Given the description of an element on the screen output the (x, y) to click on. 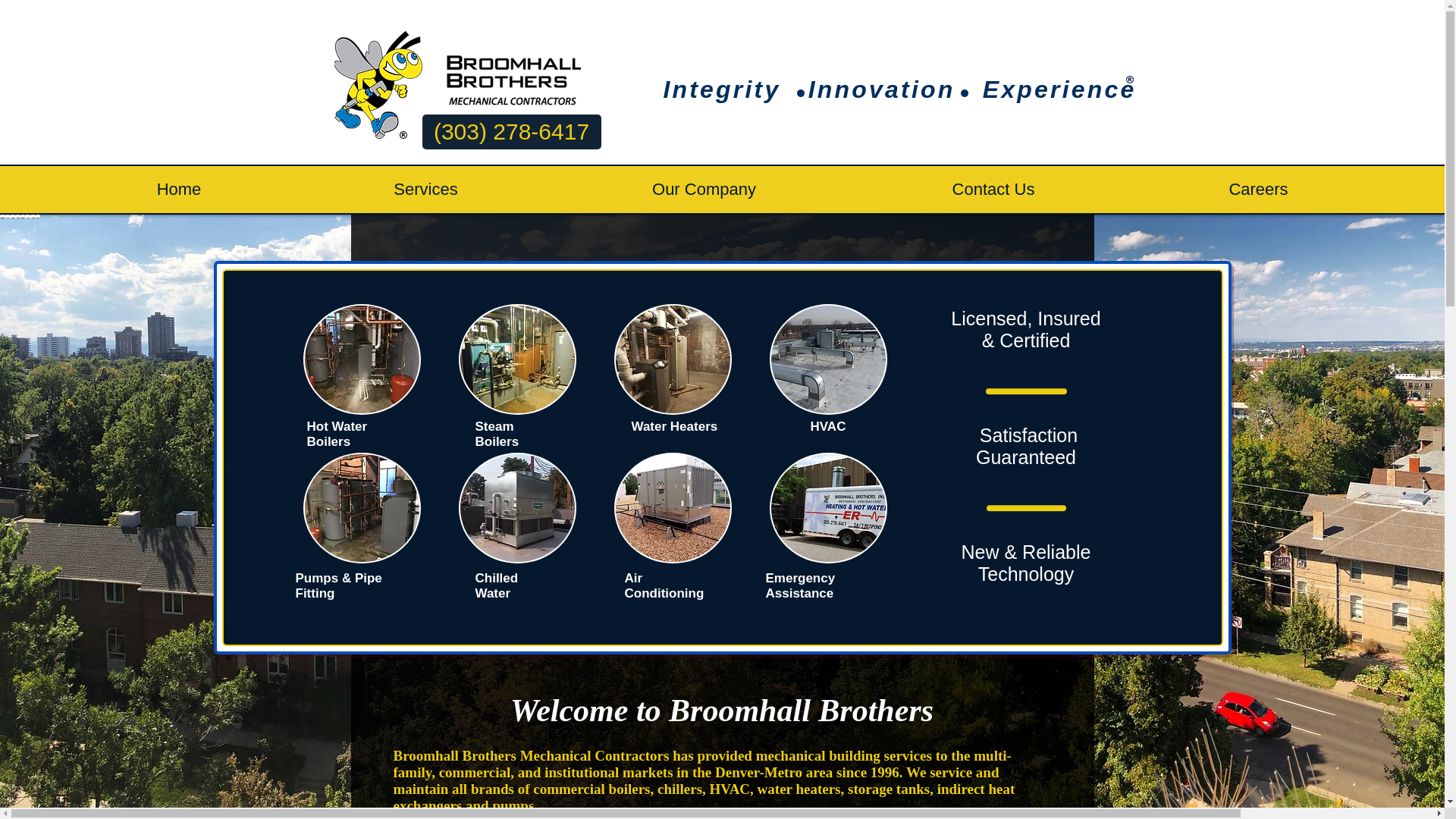
Contact Us (993, 188)
Careers (1258, 188)
Our Company (703, 188)
Integrity   Innovation   Experience  (903, 89)
Services (425, 188)
Home (179, 188)
